Given the description of an element on the screen output the (x, y) to click on. 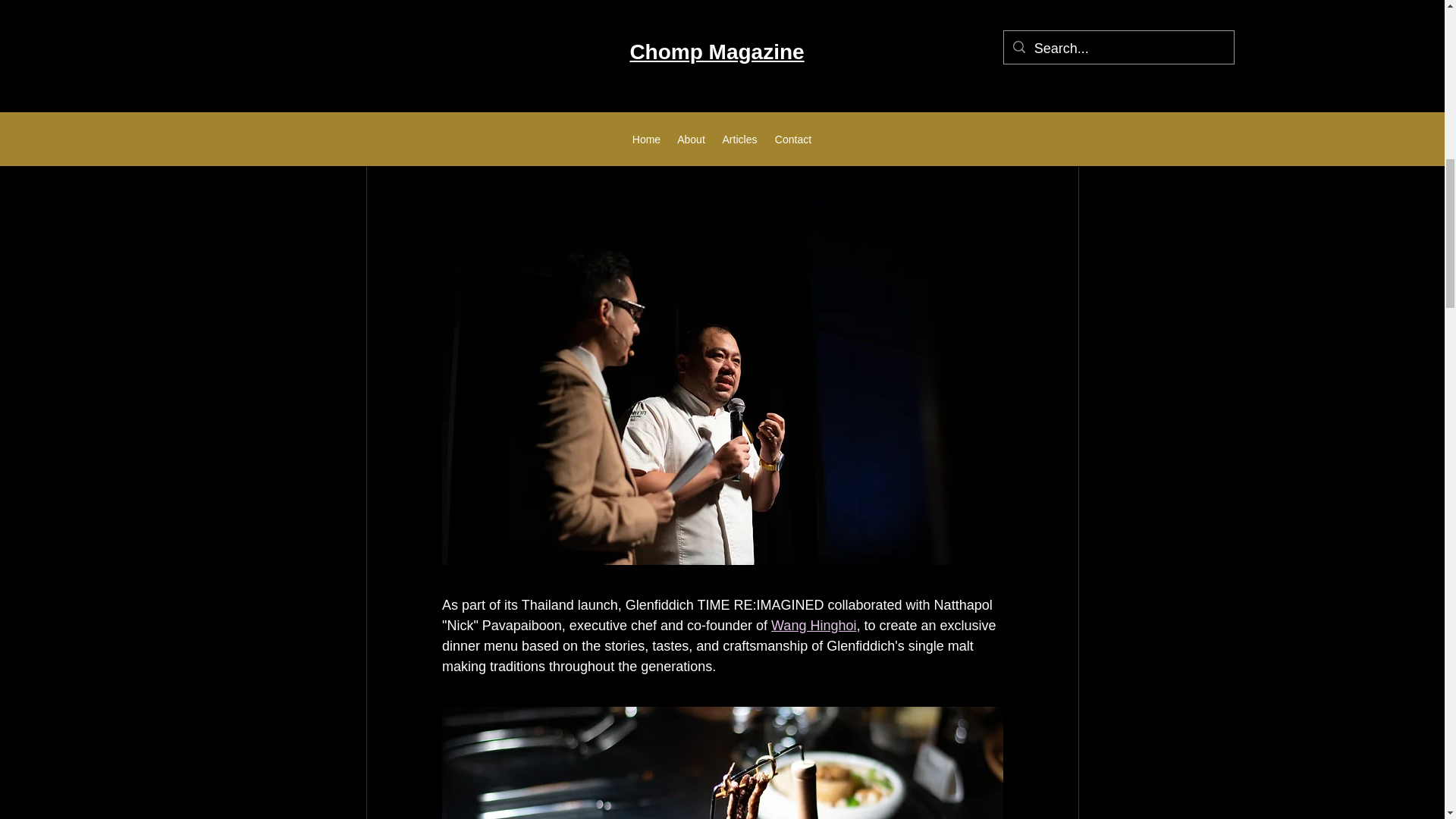
Wang Hinghoi (813, 624)
Glenfiddich (721, 7)
